Given the description of an element on the screen output the (x, y) to click on. 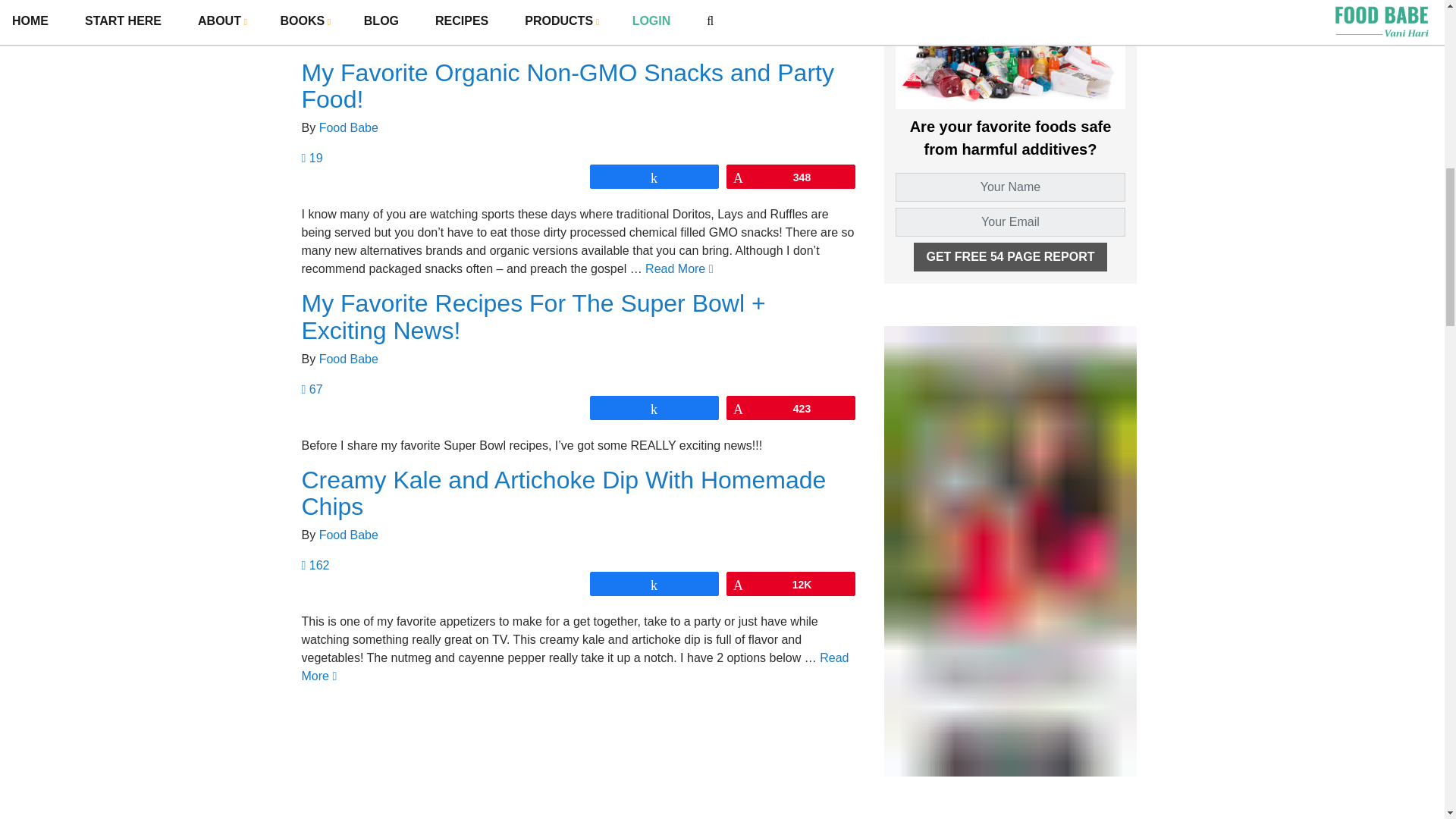
My Favorite Organic Non-GMO Snacks and Party Food! (567, 85)
Read More (375, 38)
